Given the description of an element on the screen output the (x, y) to click on. 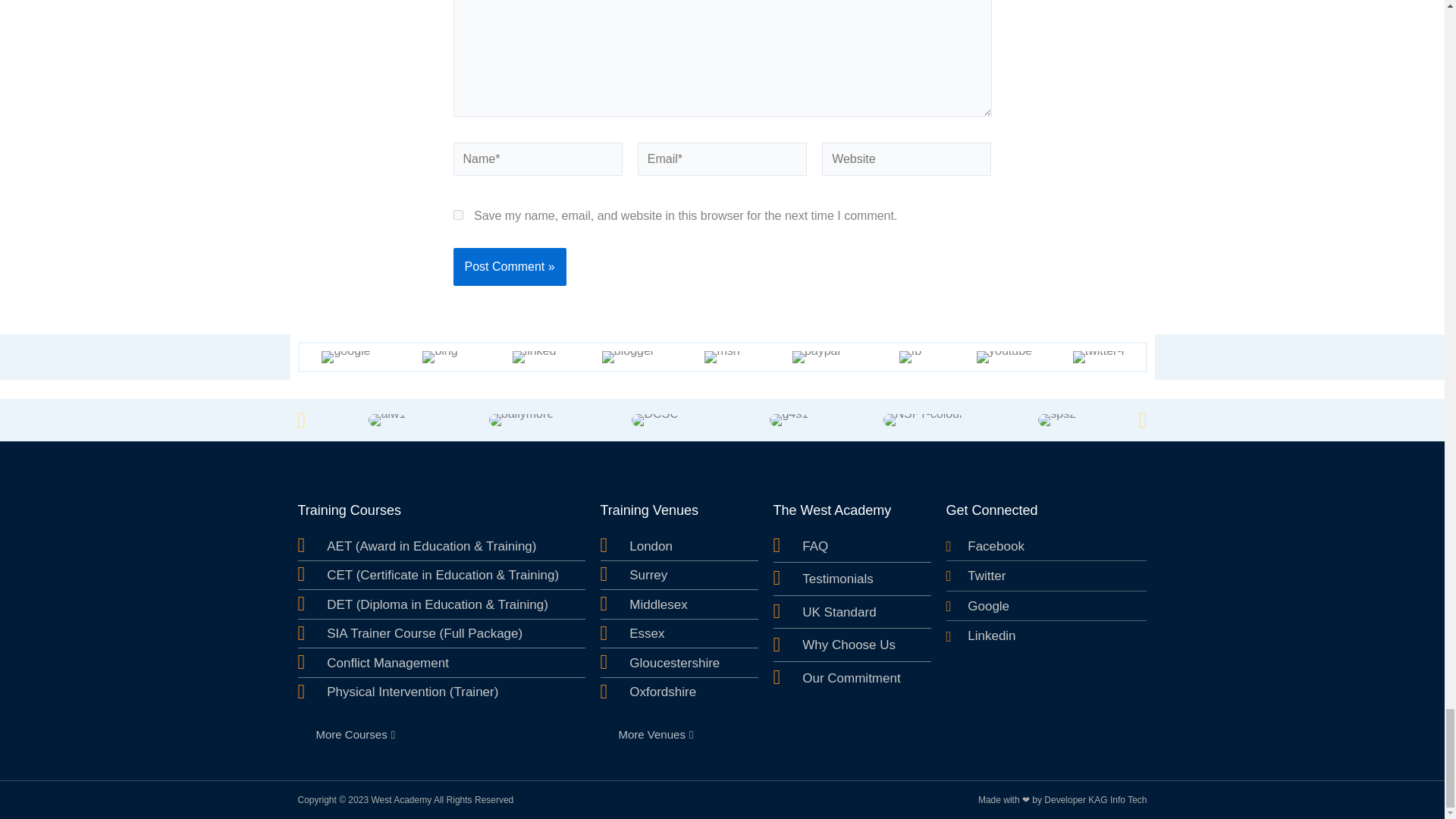
yes (457, 214)
